Given the description of an element on the screen output the (x, y) to click on. 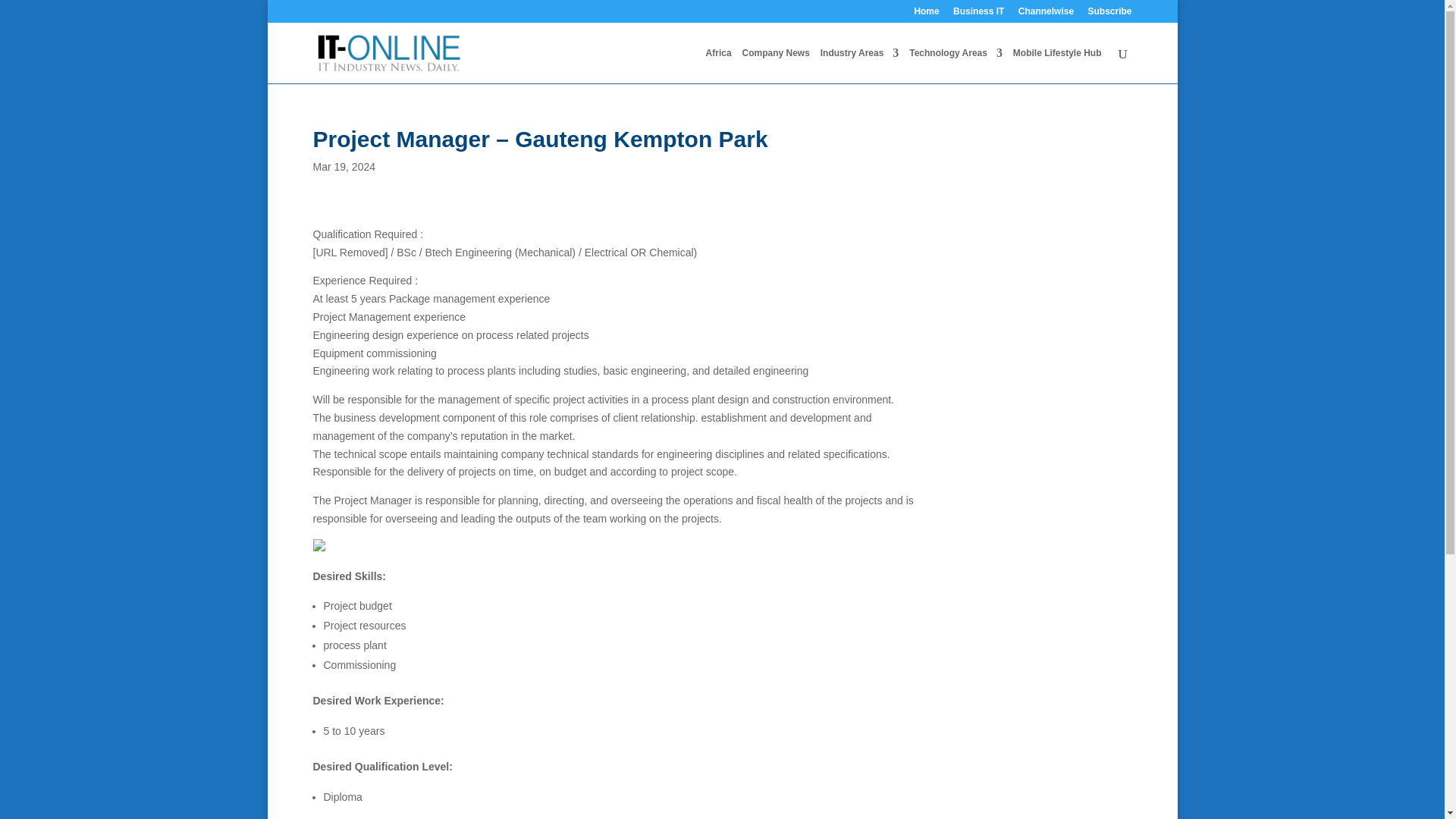
Subscribe (1109, 14)
Channelwise (1045, 14)
Industry Areas (860, 65)
Home (926, 14)
Technology Areas (955, 65)
Company News (775, 65)
Business IT (978, 14)
